Given the description of an element on the screen output the (x, y) to click on. 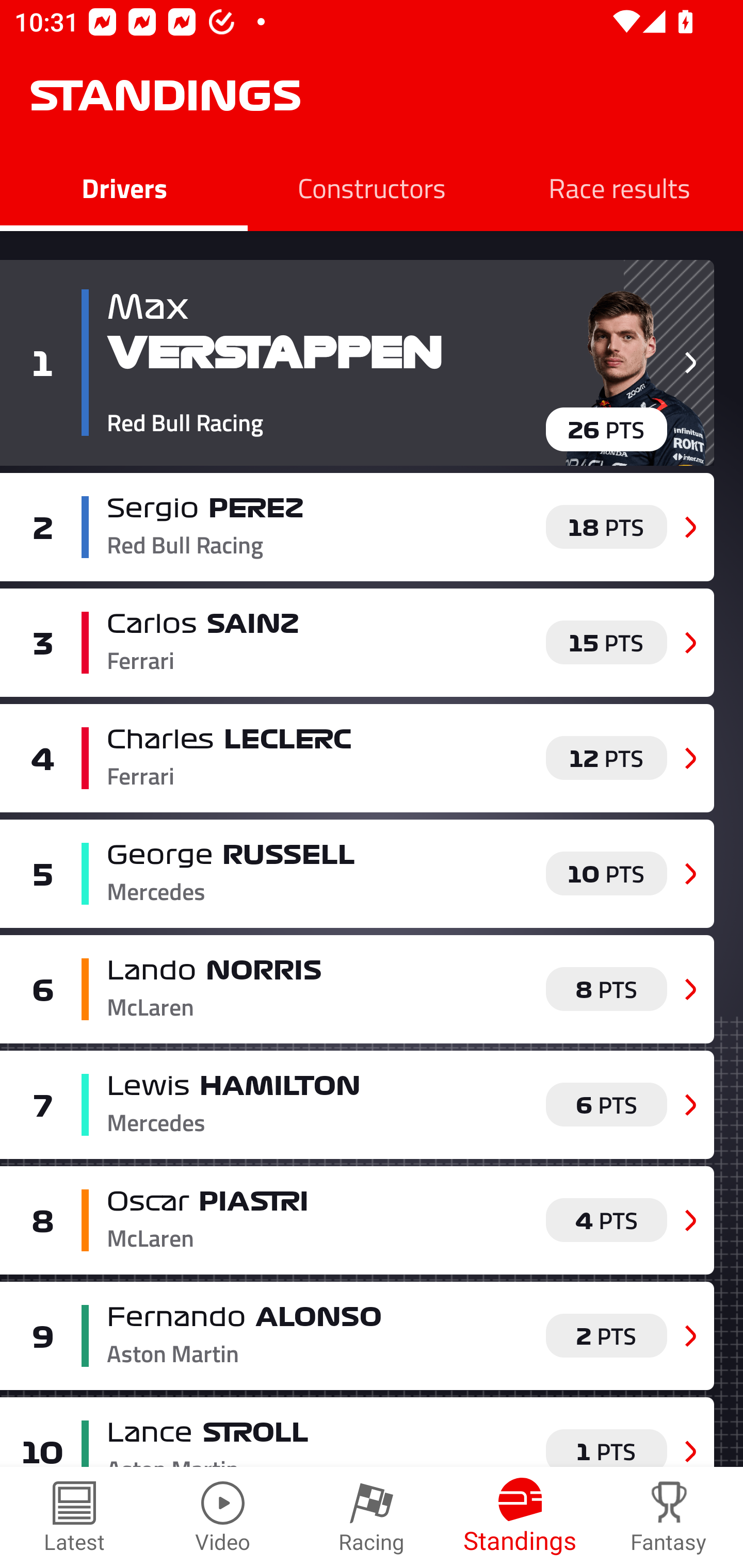
Constructors (371, 187)
Race results (619, 187)
1 Max VERSTAPPEN Red Bull Racing 26 PTS (357, 362)
2 Sergio PEREZ Red Bull Racing 18 PTS (357, 527)
3 Carlos SAINZ Ferrari 15 PTS (357, 642)
4 Charles LECLERC Ferrari 12 PTS (357, 758)
5 George RUSSELL Mercedes 10 PTS (357, 874)
6 Lando NORRIS McLaren 8 PTS (357, 988)
7 Lewis HAMILTON Mercedes 6 PTS (357, 1104)
8 Oscar PIASTRI McLaren 4 PTS (357, 1220)
9 Fernando ALONSO Aston Martin 2 PTS (357, 1335)
10 Lance STROLL Aston Martin 1 PTS (357, 1432)
Latest (74, 1517)
Video (222, 1517)
Racing (371, 1517)
Fantasy (668, 1517)
